Given the description of an element on the screen output the (x, y) to click on. 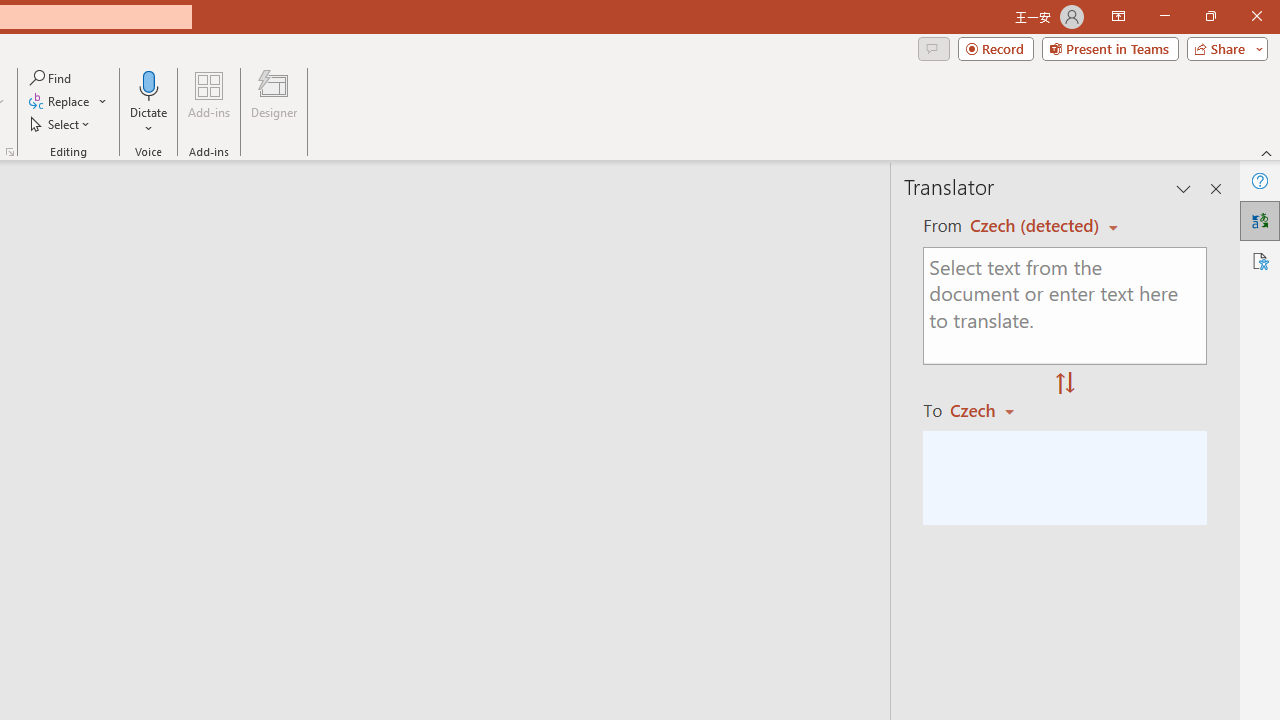
Czech (991, 409)
Swap "from" and "to" languages. (1065, 383)
